Given the description of an element on the screen output the (x, y) to click on. 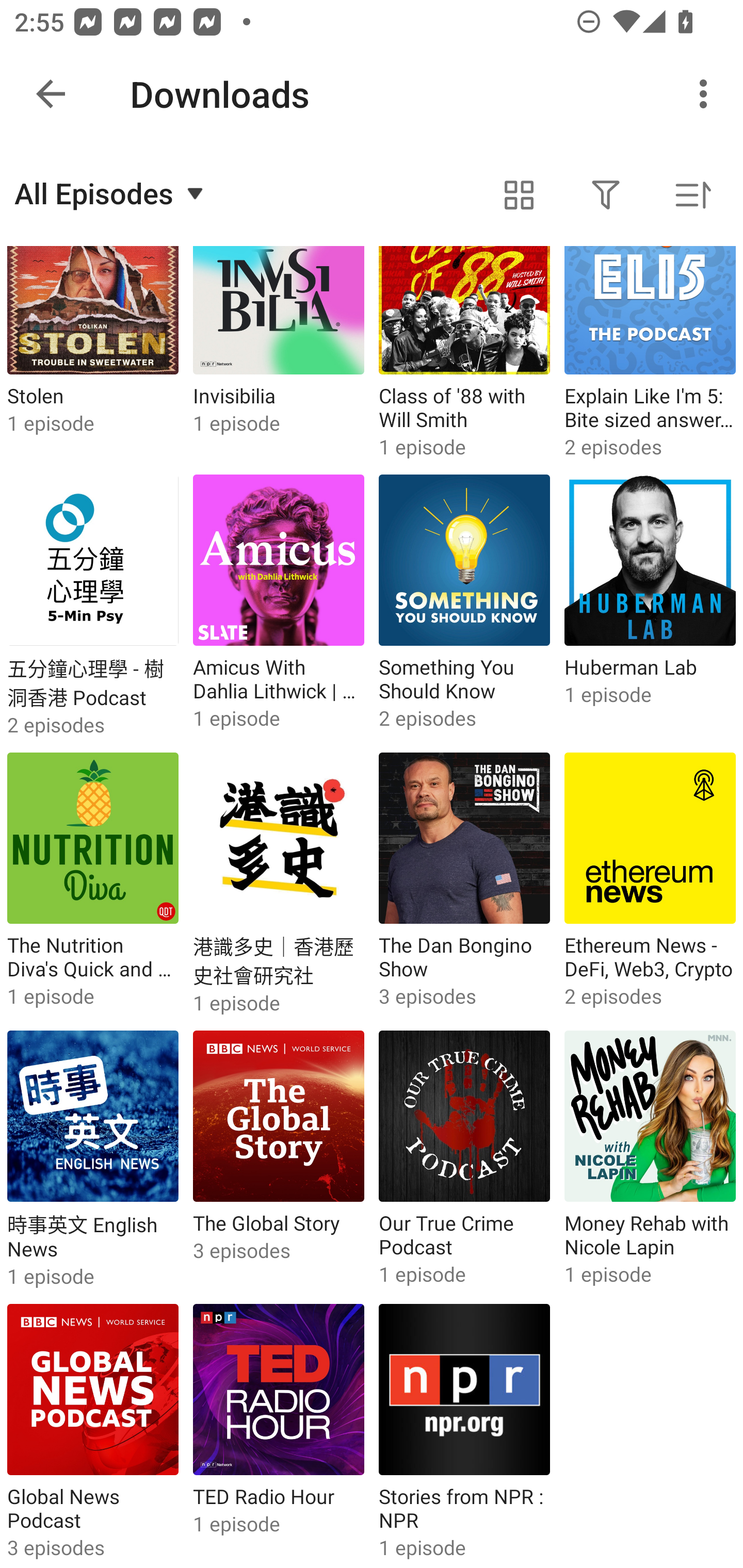
5.0 Downloading 2 episodes VIEW (371, 88)
Navigate up (50, 93)
More options (706, 93)
All Episodes (111, 192)
 (518, 195)
 (605, 195)
 Sorted by oldest first (692, 195)
Stolen 1 episode (92, 356)
Invisibilia 1 episode (278, 356)
Class of '88 with Will Smith 1 episode (464, 356)
五分鐘心理學 - 樹洞香港 Podcast 2 episodes (92, 605)
Something You Should Know 2 episodes (464, 605)
Huberman Lab 1 episode (650, 605)
港識多史｜香港歷史社會研究社 1 episode (278, 883)
The Dan Bongino Show 3 episodes (464, 883)
Ethereum News - DeFi, Web3, Crypto 2 episodes (650, 883)
時事英文 English News 1 episode (92, 1159)
The Global Story 3 episodes (278, 1159)
Our True Crime Podcast 1 episode (464, 1159)
Money Rehab with Nicole Lapin 1 episode (650, 1159)
Global News Podcast 3 episodes (92, 1432)
TED Radio Hour 1 episode (278, 1432)
Stories from NPR : NPR 1 episode (464, 1432)
